Given the description of an element on the screen output the (x, y) to click on. 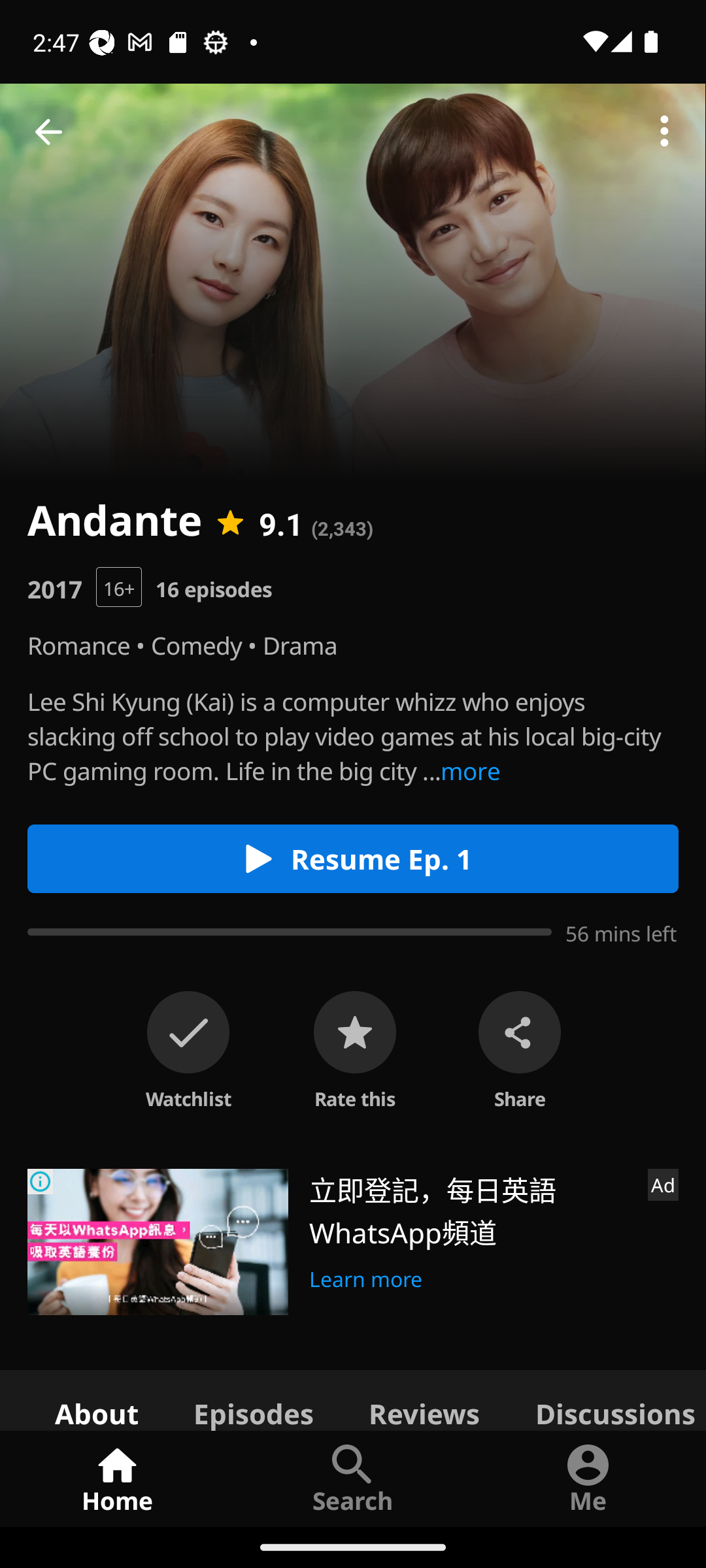
More (664, 131)
on (187, 1032)
立即登記，每日英語WhatsApp頻道 Ad Learn more Ad Choices Icon (352, 1241)
Ad Choices Icon (39, 1181)
立即登記，每日英語WhatsApp頻道 (471, 1209)
Learn more (365, 1276)
Episodes (252, 1400)
Reviews (423, 1400)
Discussions (606, 1400)
Search (352, 1478)
Me (588, 1478)
